Given the description of an element on the screen output the (x, y) to click on. 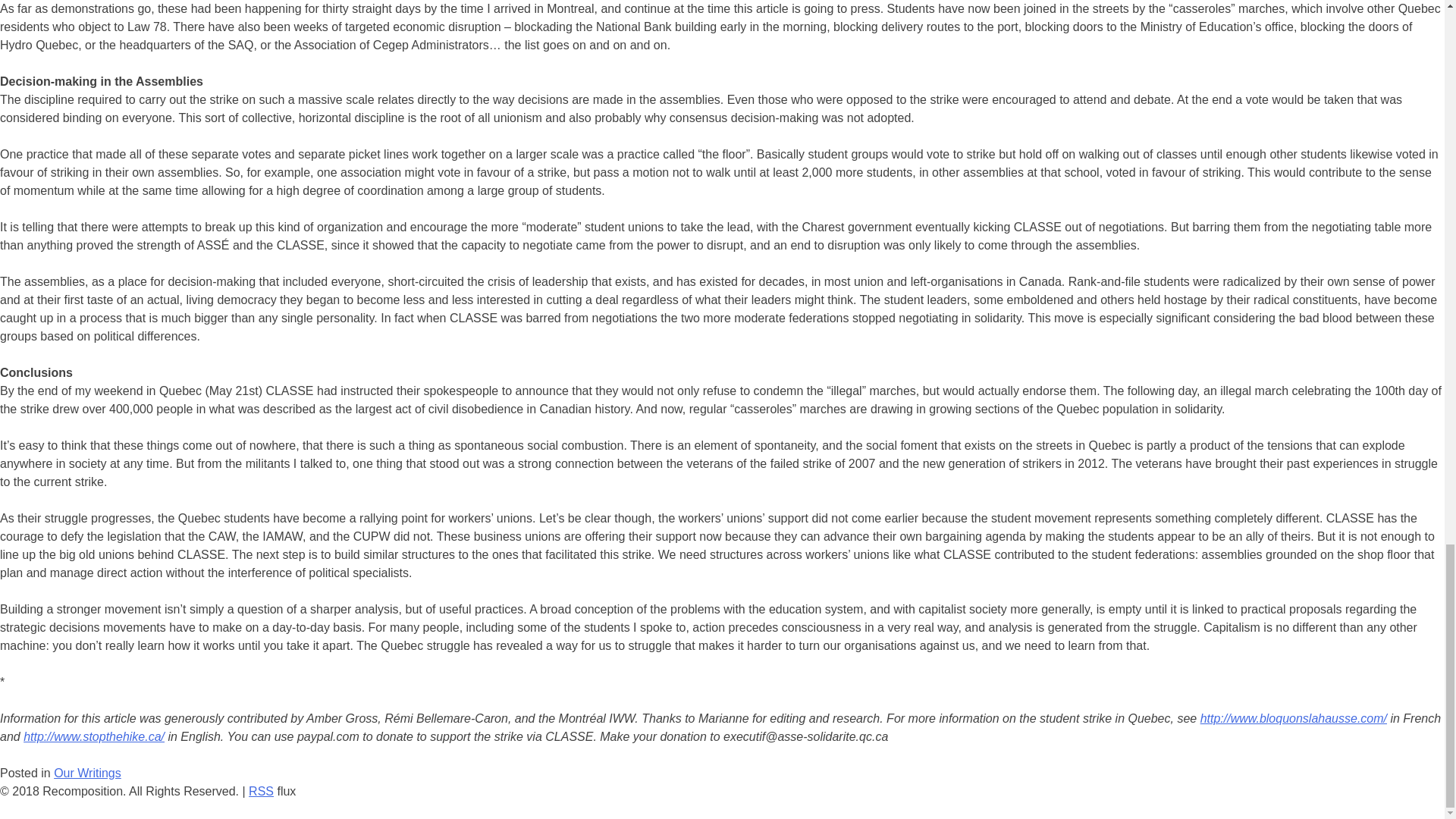
RSS (260, 790)
Our Writings (86, 772)
